Given the description of an element on the screen output the (x, y) to click on. 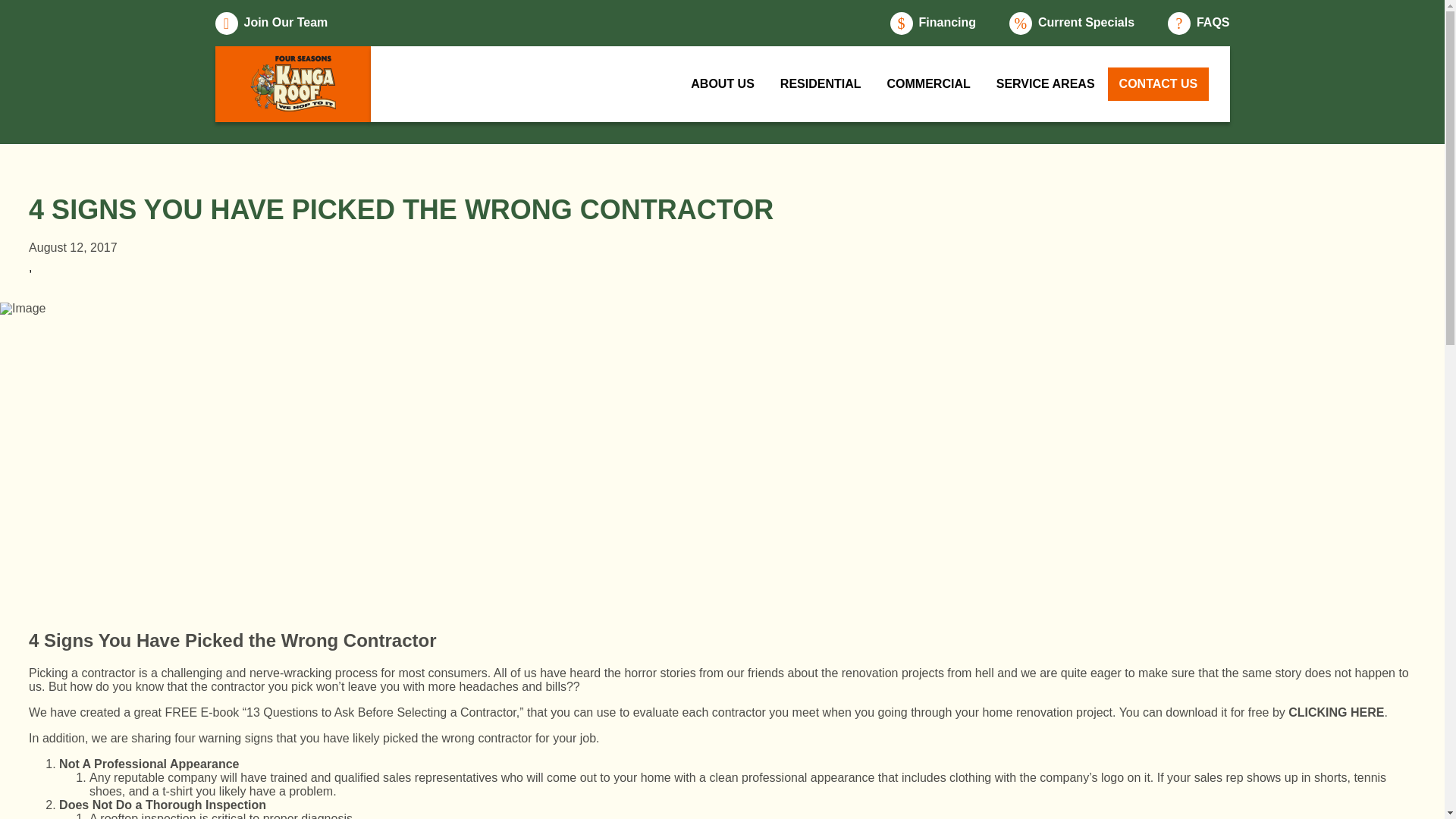
Join Our Team (272, 23)
ABOUT US (722, 83)
SERVICE AREAS (1046, 83)
FAQS (1198, 23)
CONTACT US (1158, 83)
RESIDENTIAL (821, 83)
COMMERCIAL (929, 83)
Current Specials (1071, 23)
Financing (932, 23)
